Given the description of an element on the screen output the (x, y) to click on. 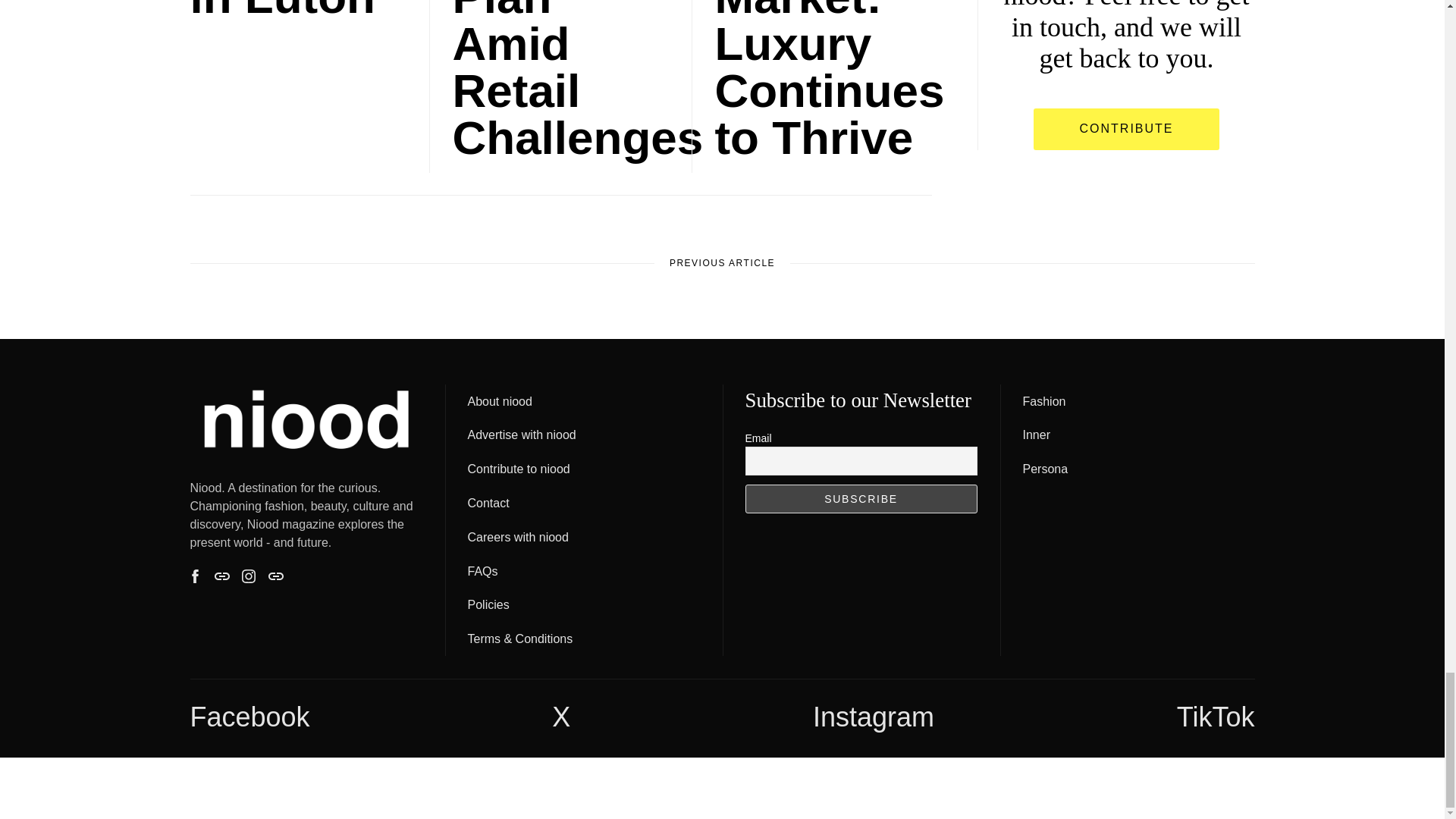
Subscribe (860, 498)
